Given the description of an element on the screen output the (x, y) to click on. 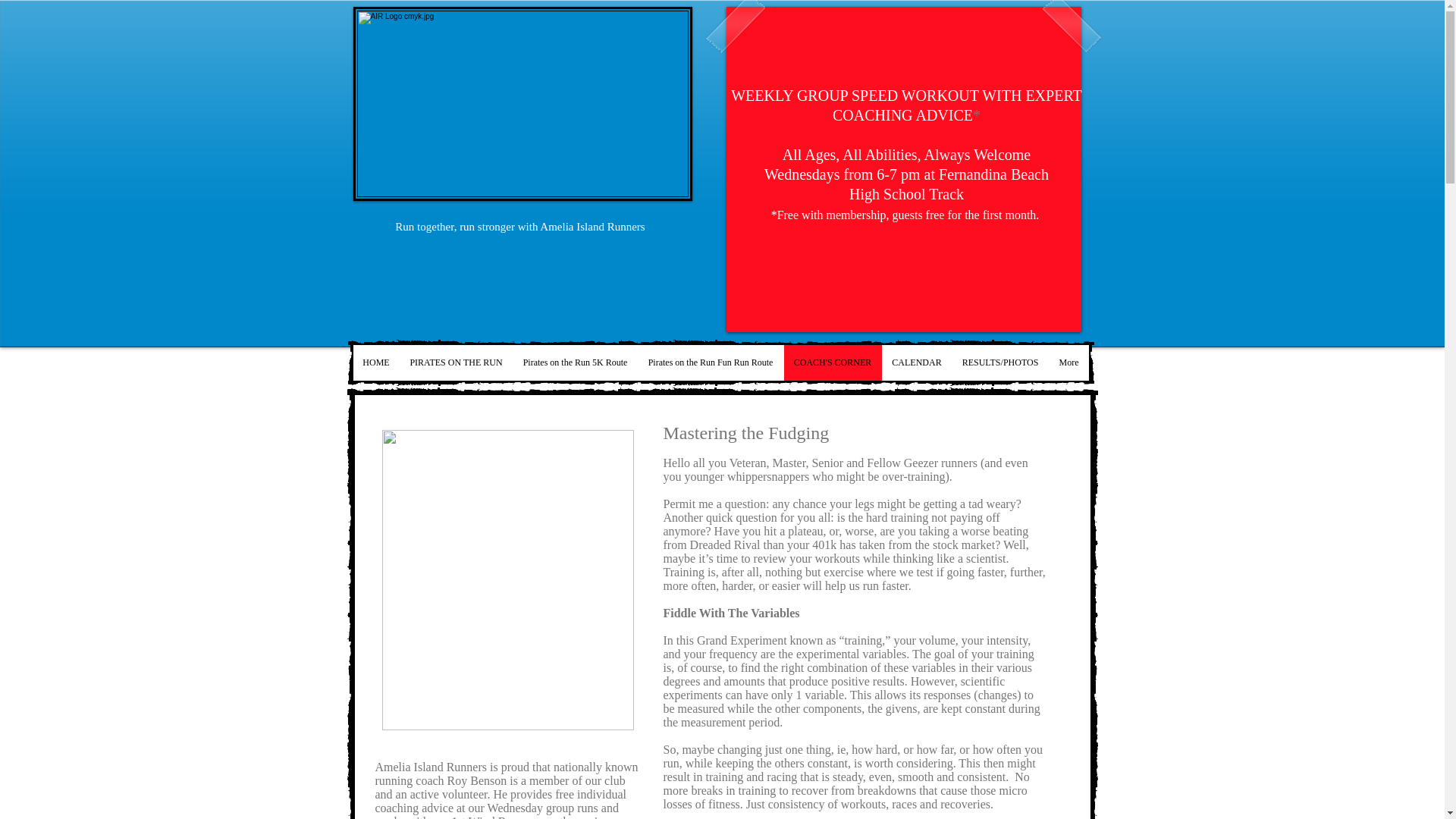
Pirates on the Run 5K Route (574, 362)
Pirates on the Run Fun Run Route (710, 362)
COACH'S CORNER (831, 362)
CALENDAR (915, 362)
HOME (375, 362)
PIRATES ON THE RUN (455, 362)
